Given the description of an element on the screen output the (x, y) to click on. 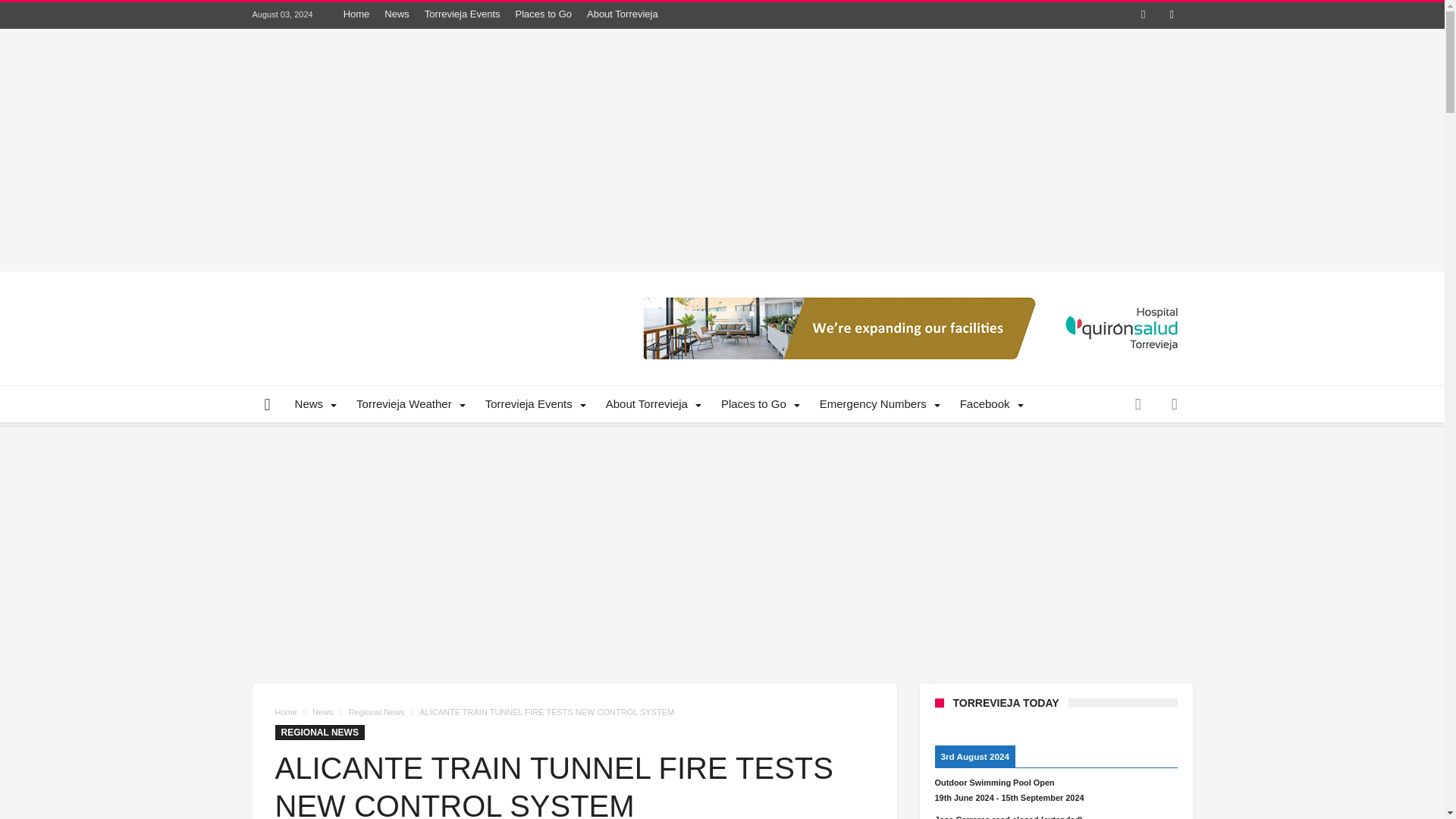
Torrevieja Events (462, 14)
Torrevieja Events (533, 403)
Places to Go (543, 14)
About Torrevieja (651, 403)
Facebook (1143, 15)
About Torrevieja (622, 14)
Torrevieja News (313, 403)
Home (356, 14)
News (313, 403)
Torrevieja weather forecast and live map (408, 403)
Twitter (1170, 15)
News (396, 14)
Torrevieja Weather (408, 403)
